Given the description of an element on the screen output the (x, y) to click on. 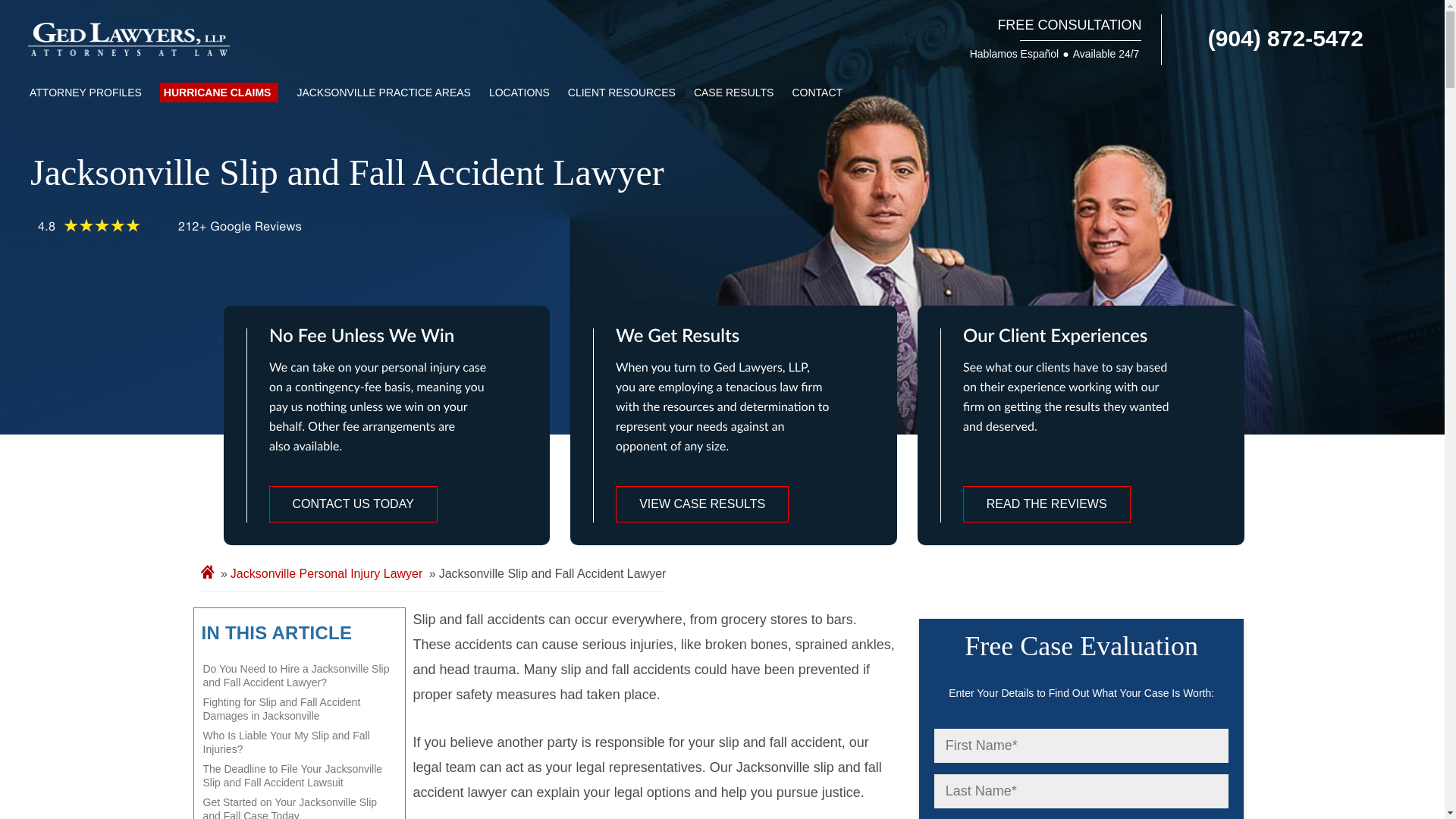
Call Us Today (1271, 37)
Ged Lawyers, LLP Attorneys At Law (128, 39)
Who Is Liable Your My Slip and Fall Injuries? (298, 742)
READ THE REVIEWS (1046, 504)
JACKSONVILLE PRACTICE AREAS (383, 92)
Fighting for Slip and Fall Accident Damages in Jacksonville (298, 708)
Get Started on Your Jacksonville Slip and Fall Case Today (298, 805)
VIEW CASE RESULTS (702, 504)
